Given the description of an element on the screen output the (x, y) to click on. 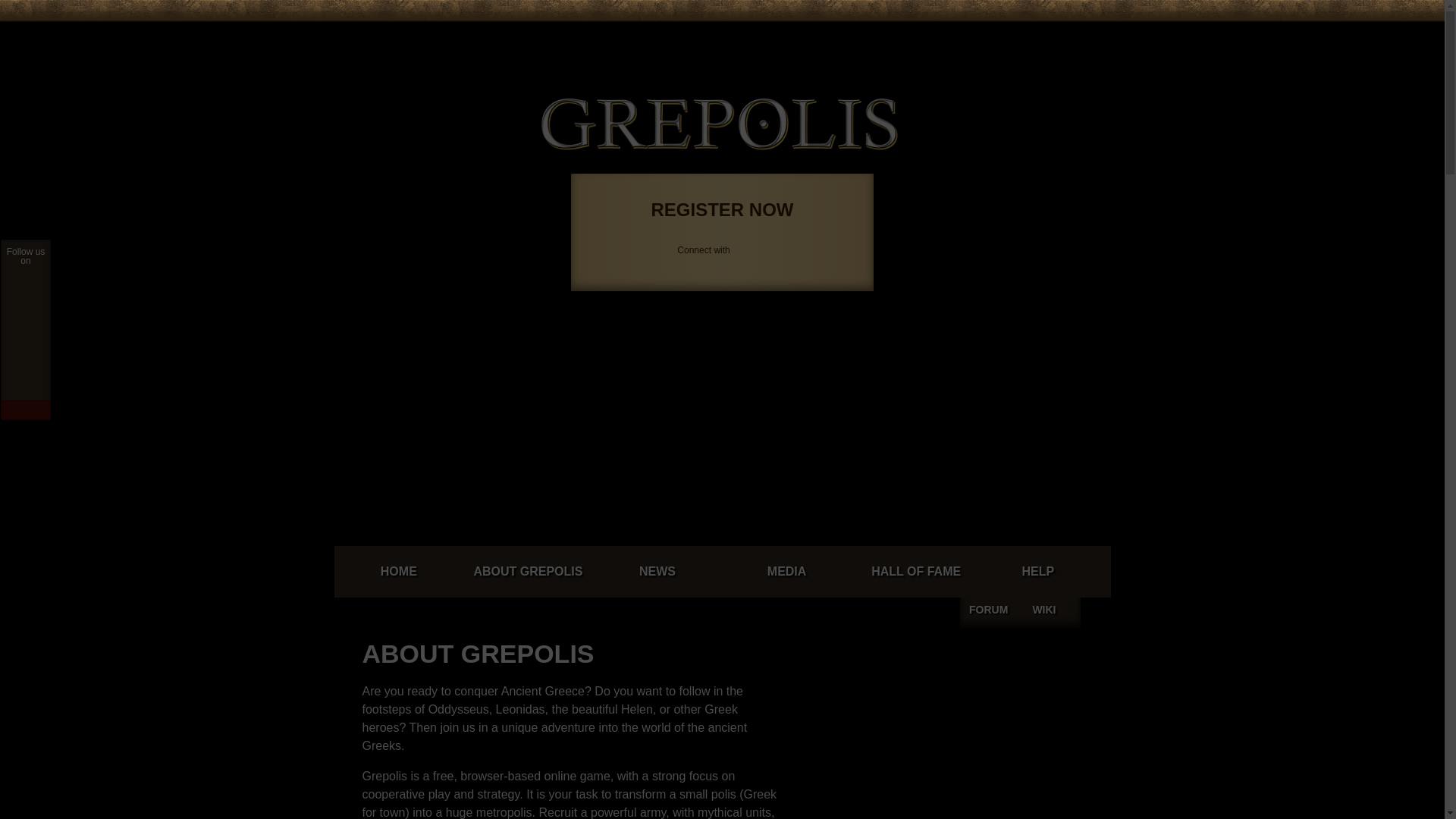
Connect with Facebook (909, 36)
Grepolis (719, 124)
Facebook (909, 36)
Google (928, 36)
HOME (398, 571)
